Given the description of an element on the screen output the (x, y) to click on. 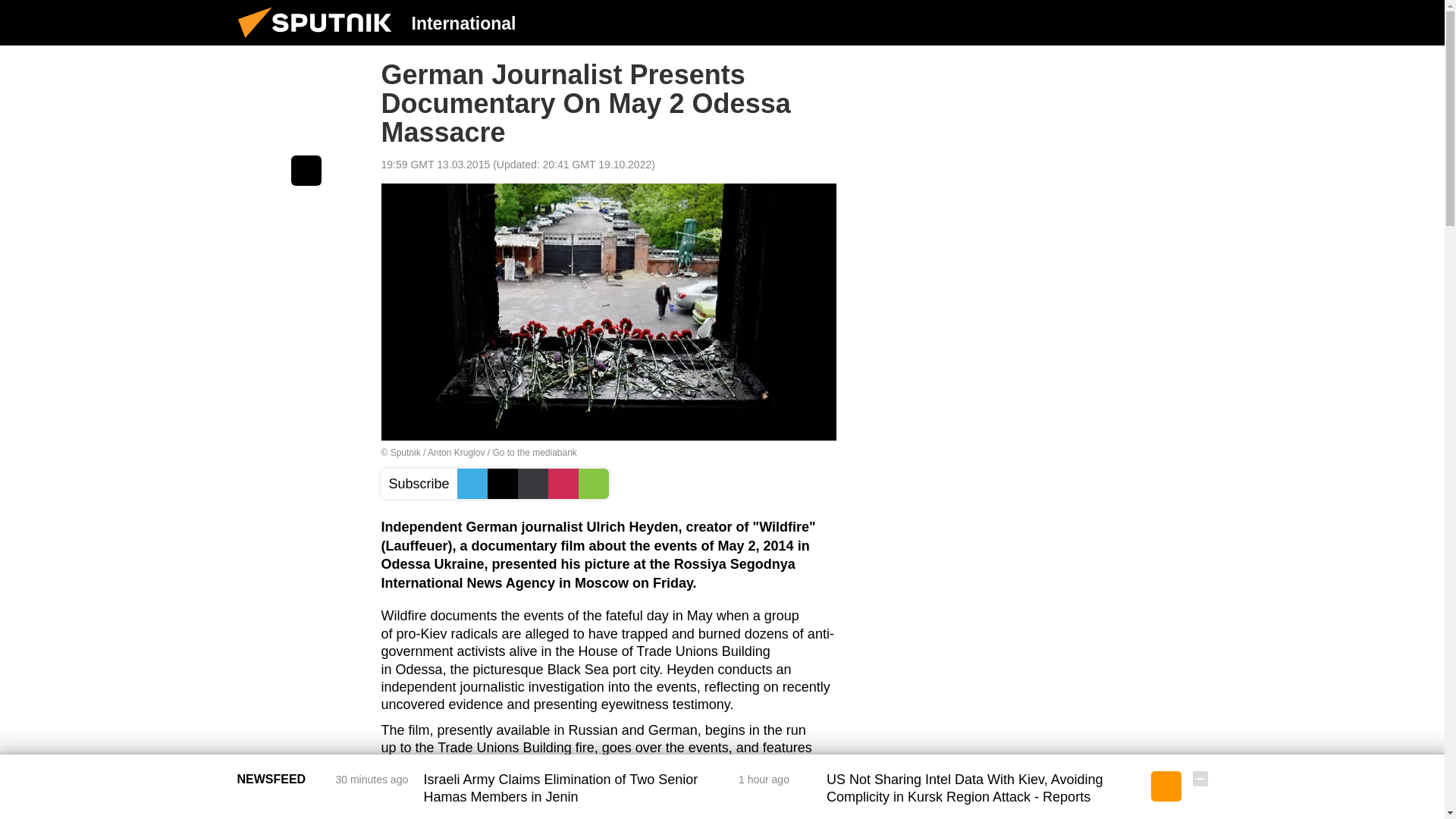
Chats (1199, 22)
Authorization (1123, 22)
Sputnik International (319, 41)
